Given the description of an element on the screen output the (x, y) to click on. 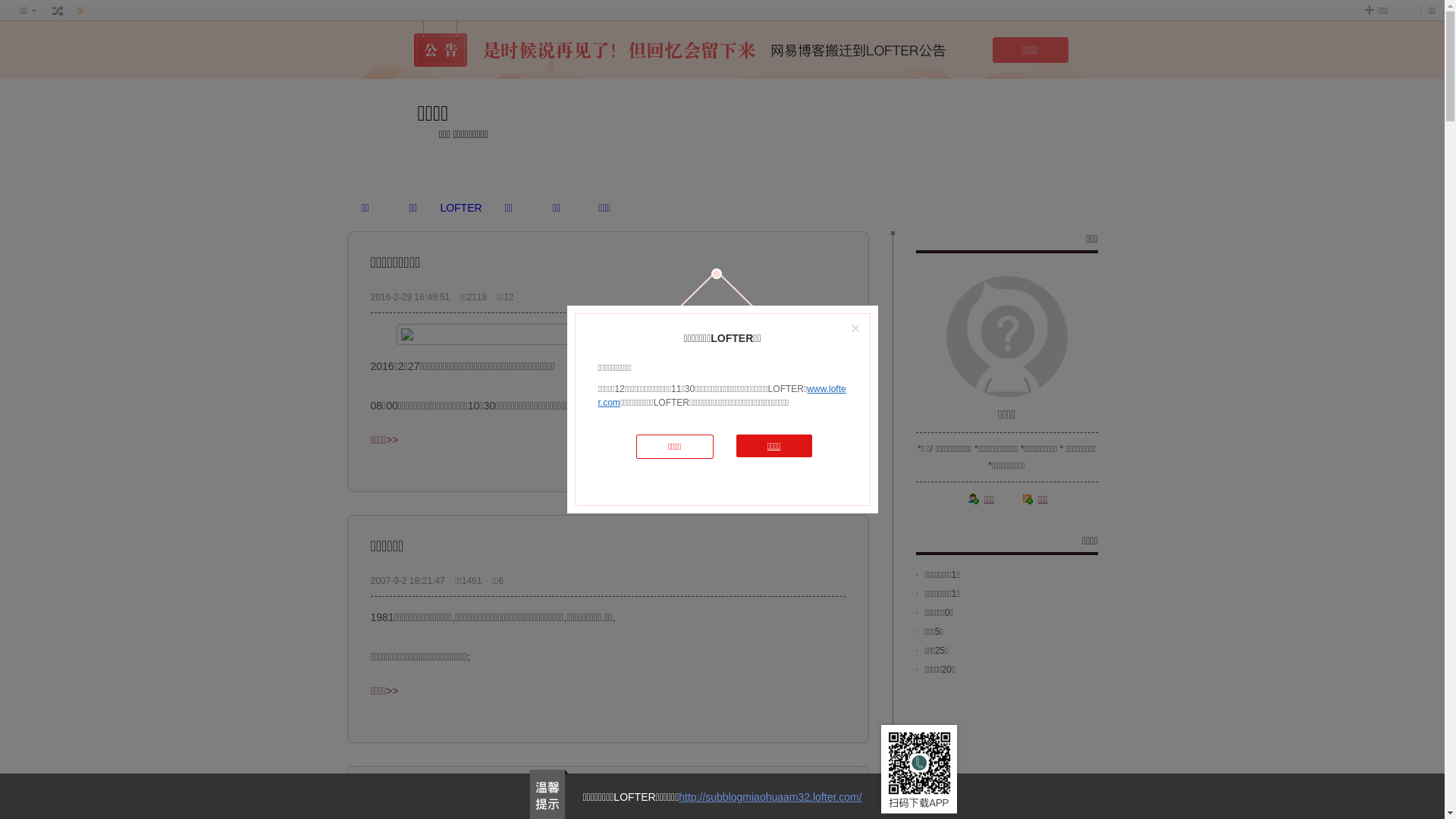
www.lofter.com Element type: text (721, 395)
  Element type: text (58, 10)
LOFTER Element type: text (460, 207)
http://subblogmiaohuaam32.lofter.com/ Element type: text (769, 796)
